Given the description of an element on the screen output the (x, y) to click on. 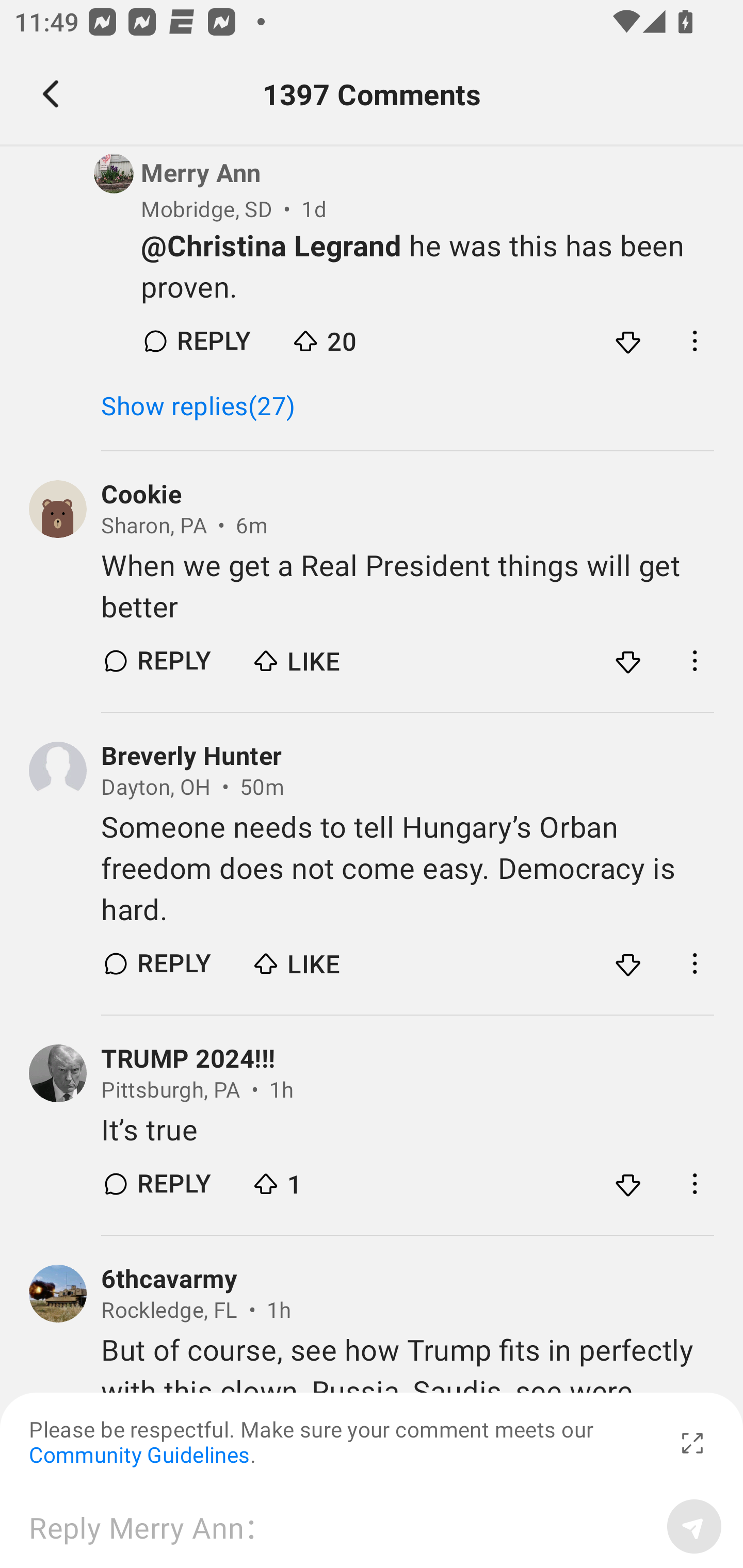
Reply Merry Ann： (340, 1526)
